Given the description of an element on the screen output the (x, y) to click on. 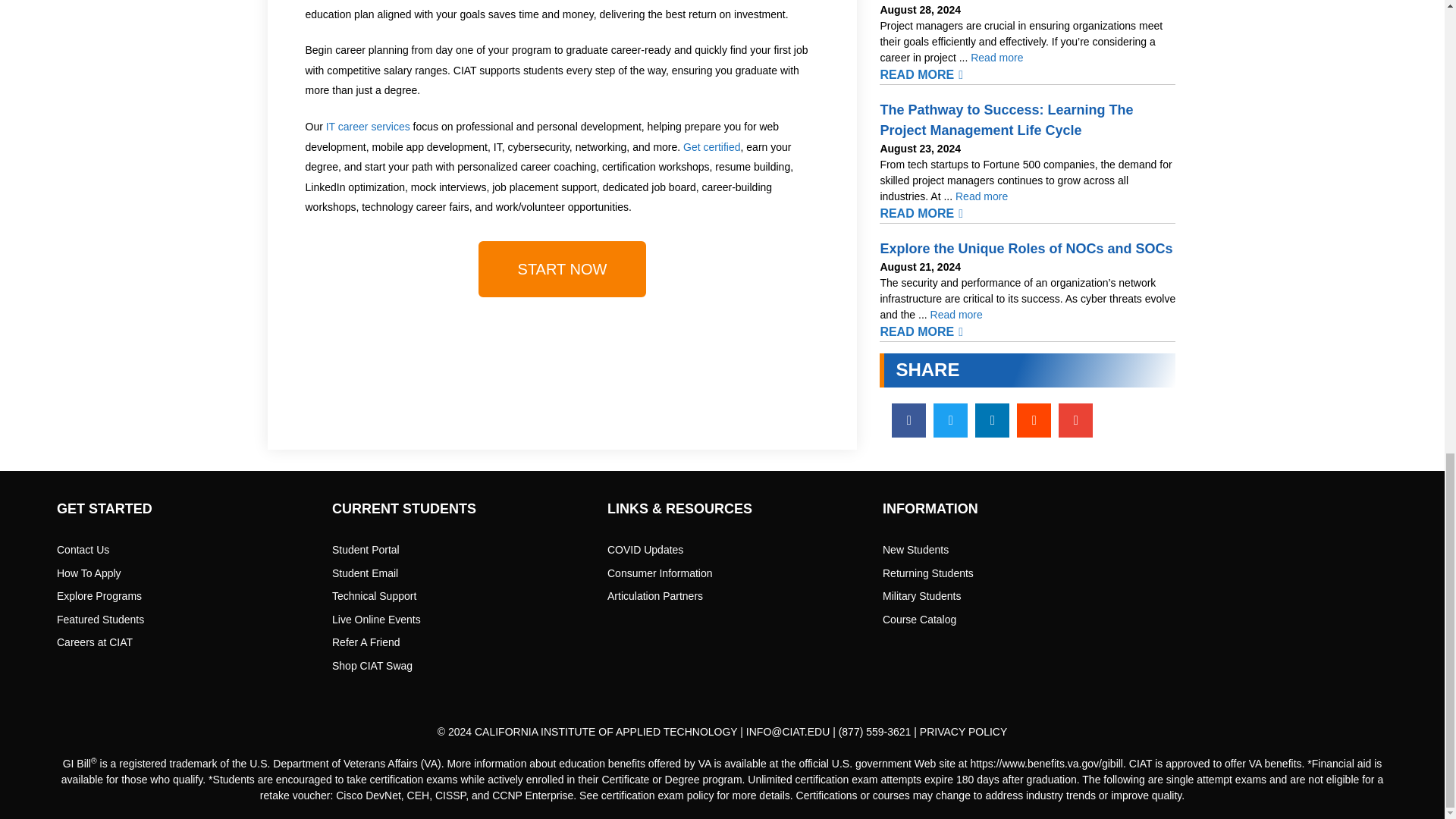
Explore the Unique Roles of NOCs and SOCs (956, 313)
